Given the description of an element on the screen output the (x, y) to click on. 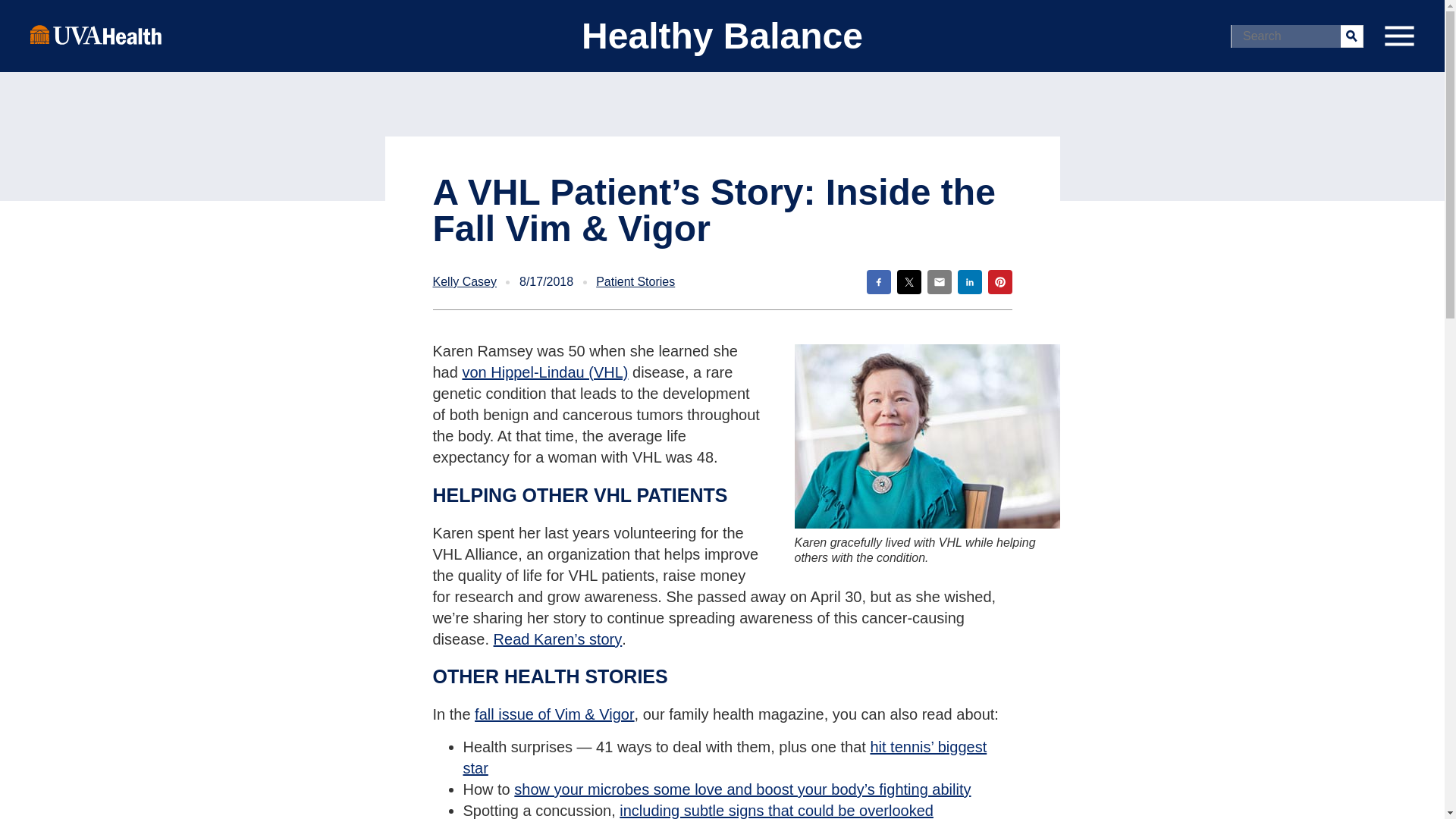
Search Toggle (15, 11)
Patient Stories (635, 282)
menu toggle (1398, 36)
including subtle signs that could be overlooked (776, 810)
UVA Health logo of UVA Health (95, 34)
Search Submit (1351, 35)
Healthy Balance (722, 35)
Submit the Search Form (1351, 35)
Kelly Casey (464, 282)
Posts by Kelly Casey (464, 282)
